Given the description of an element on the screen output the (x, y) to click on. 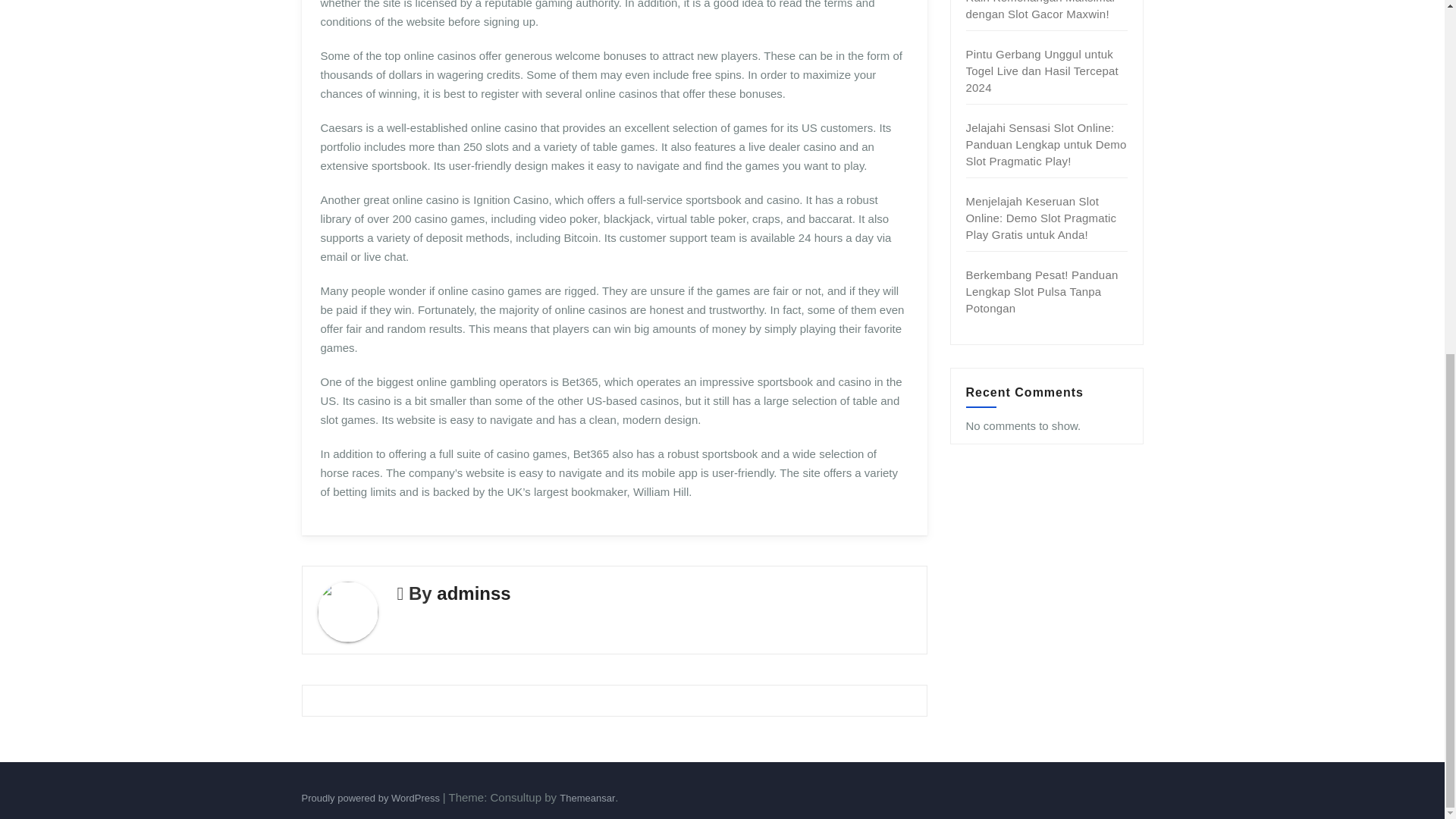
Proudly powered by WordPress (371, 797)
Berkembang Pesat! Panduan Lengkap Slot Pulsa Tanpa Potongan (1042, 291)
Raih Kemenangan Maksimal dengan Slot Gacor Maxwin! (1040, 10)
Themeansar (586, 797)
adminss (473, 593)
